Given the description of an element on the screen output the (x, y) to click on. 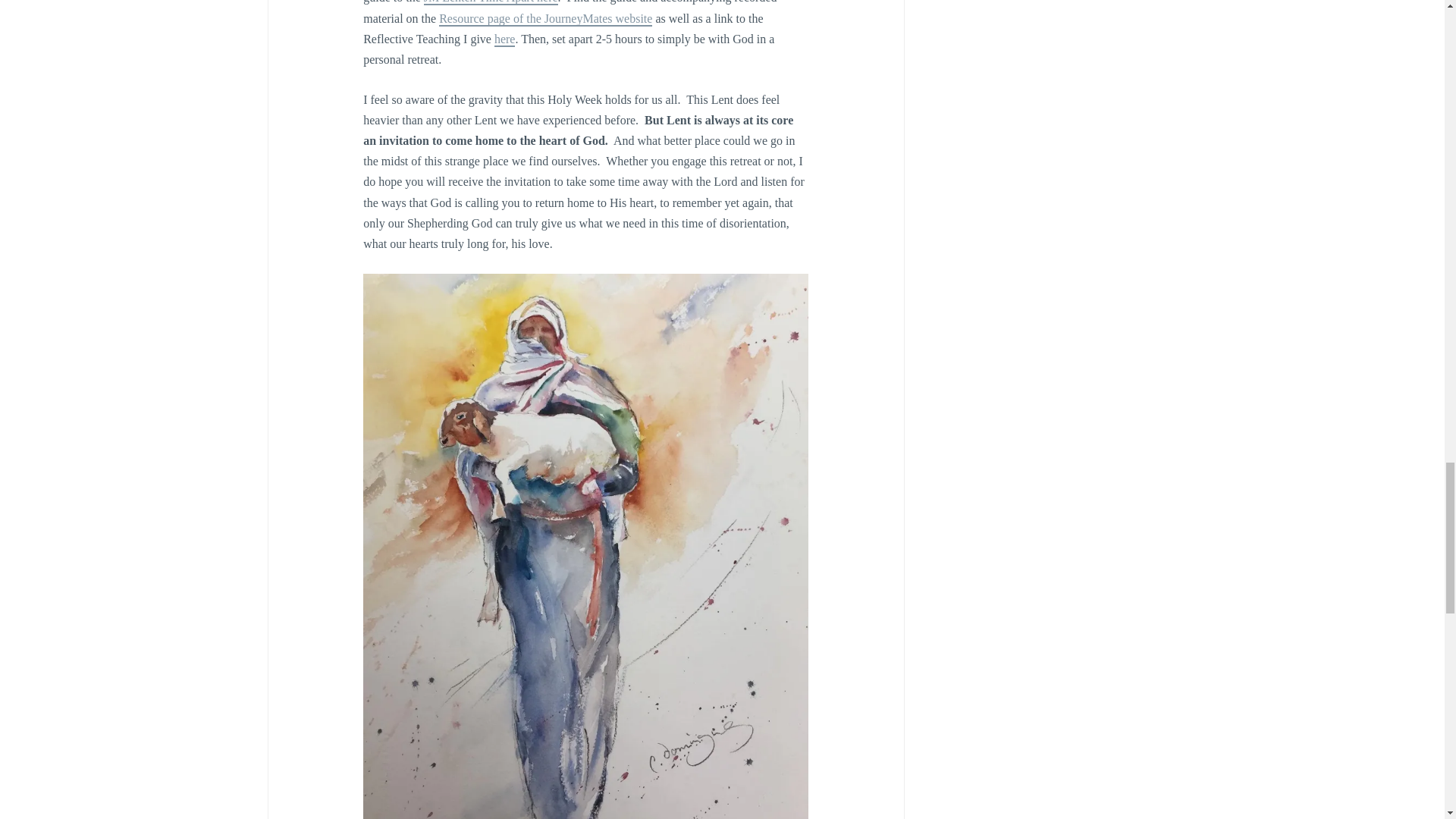
Resource page of the JourneyMates website (545, 19)
here (505, 39)
JM Lenten Time Apart here (490, 2)
